Given the description of an element on the screen output the (x, y) to click on. 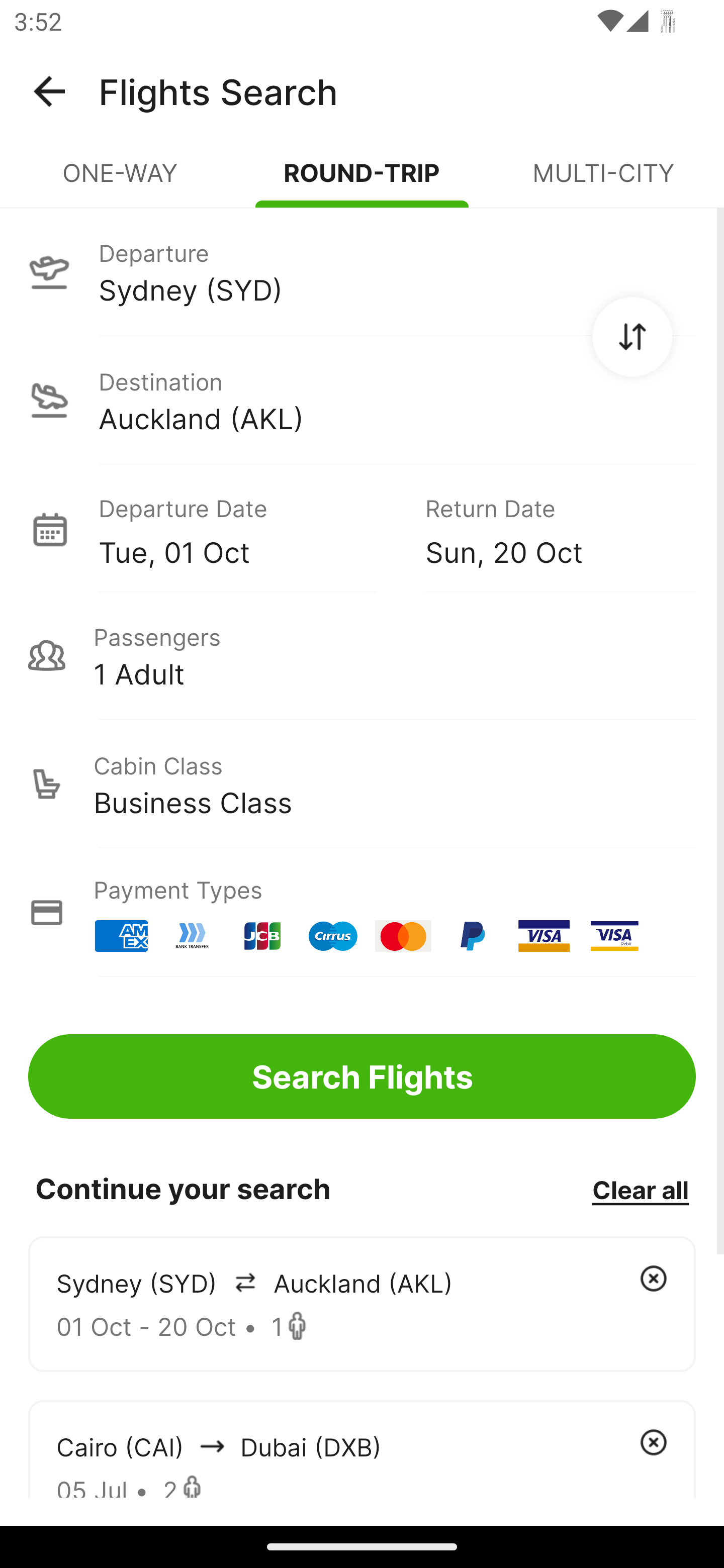
ONE-WAY (120, 180)
ROUND-TRIP (361, 180)
MULTI-CITY (603, 180)
Departure Sydney (SYD) (362, 270)
Destination Auckland (AKL) (362, 400)
Departure Date Tue, 01 Oct (247, 528)
Return Date Sun, 20 Oct (546, 528)
Passengers 1 Adult (362, 655)
Cabin Class Business Class (362, 783)
Payment Types (362, 912)
Search Flights (361, 1075)
Clear all (640, 1189)
Cairo (CAI)  arrowIcon  Dubai (DXB) 05 Jul •  2  (361, 1448)
